Given the description of an element on the screen output the (x, y) to click on. 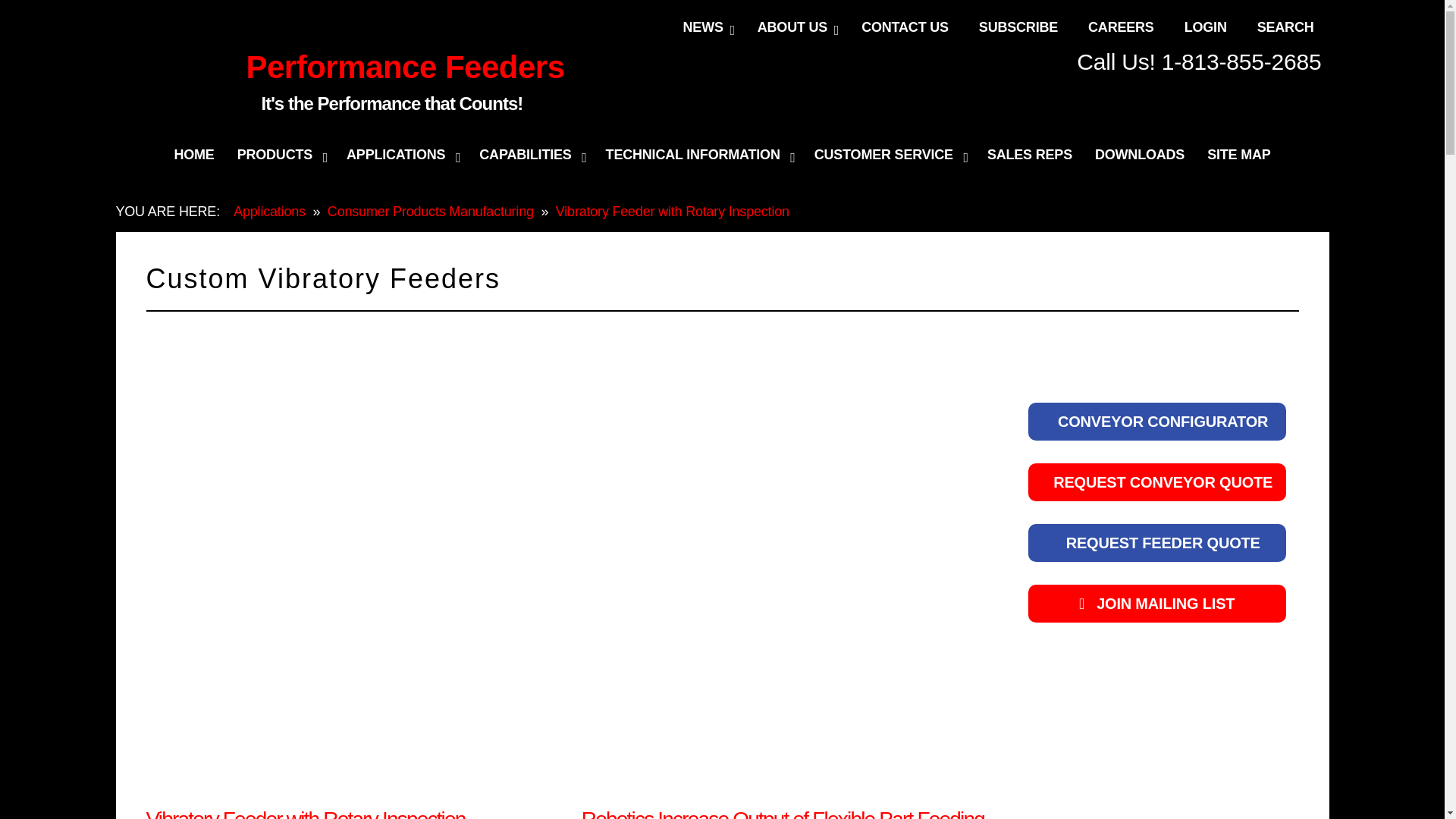
Performance Feeders (405, 67)
HOME (193, 154)
SEARCH (1285, 27)
ABOUT US (793, 27)
Join the Performance Feeders Maililng List (1156, 603)
Request a Vibratory Feeder Bowl Quote (1157, 542)
APPLICATIONS (400, 154)
Conveyor Configurator (1156, 421)
CONTACT US (904, 27)
LOGIN (1205, 27)
CAREERS (1121, 27)
NEWS (705, 27)
Conveyor Belt Quote Request (1156, 482)
